Given the description of an element on the screen output the (x, y) to click on. 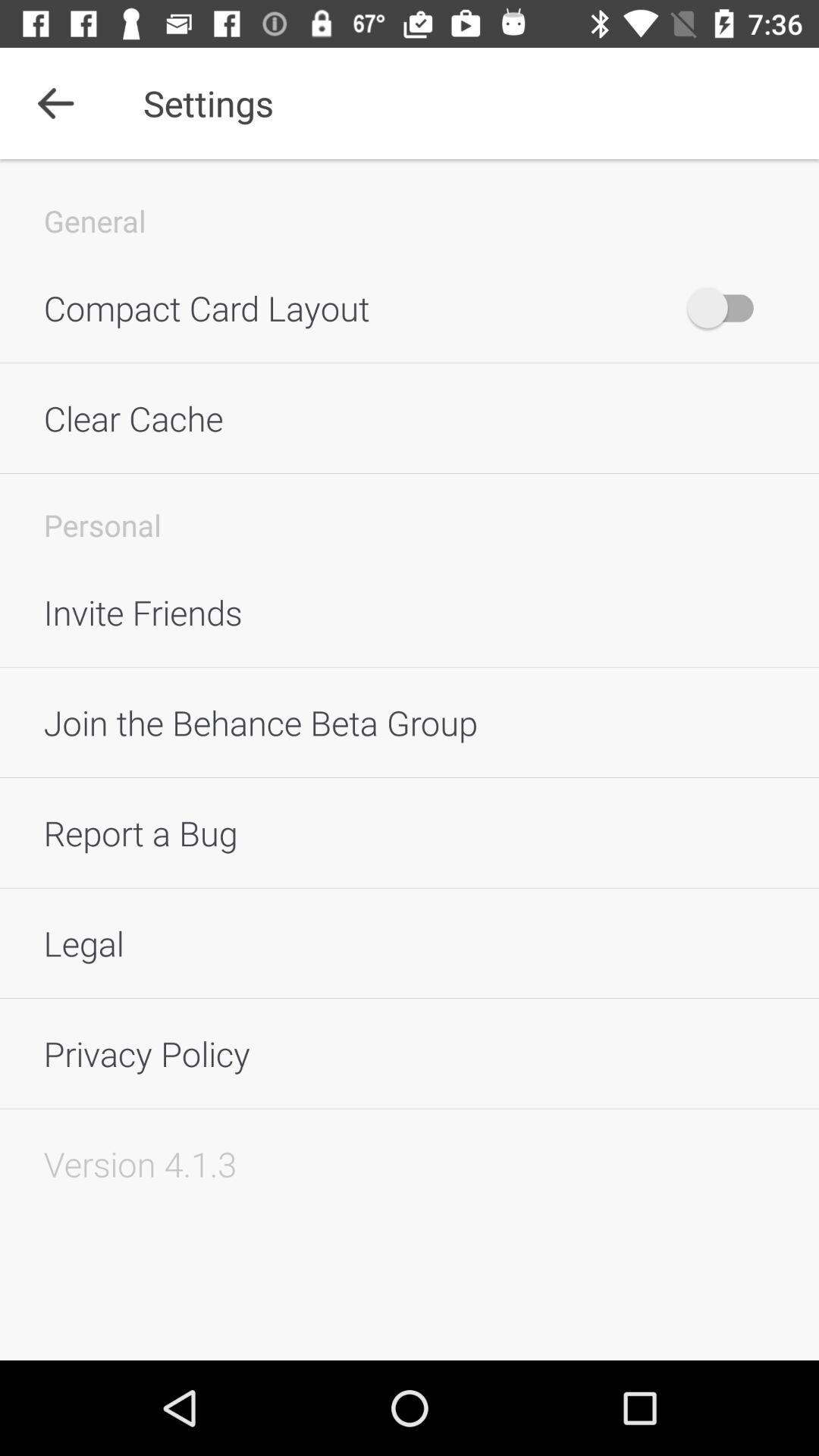
open legal item (409, 943)
